Given the description of an element on the screen output the (x, y) to click on. 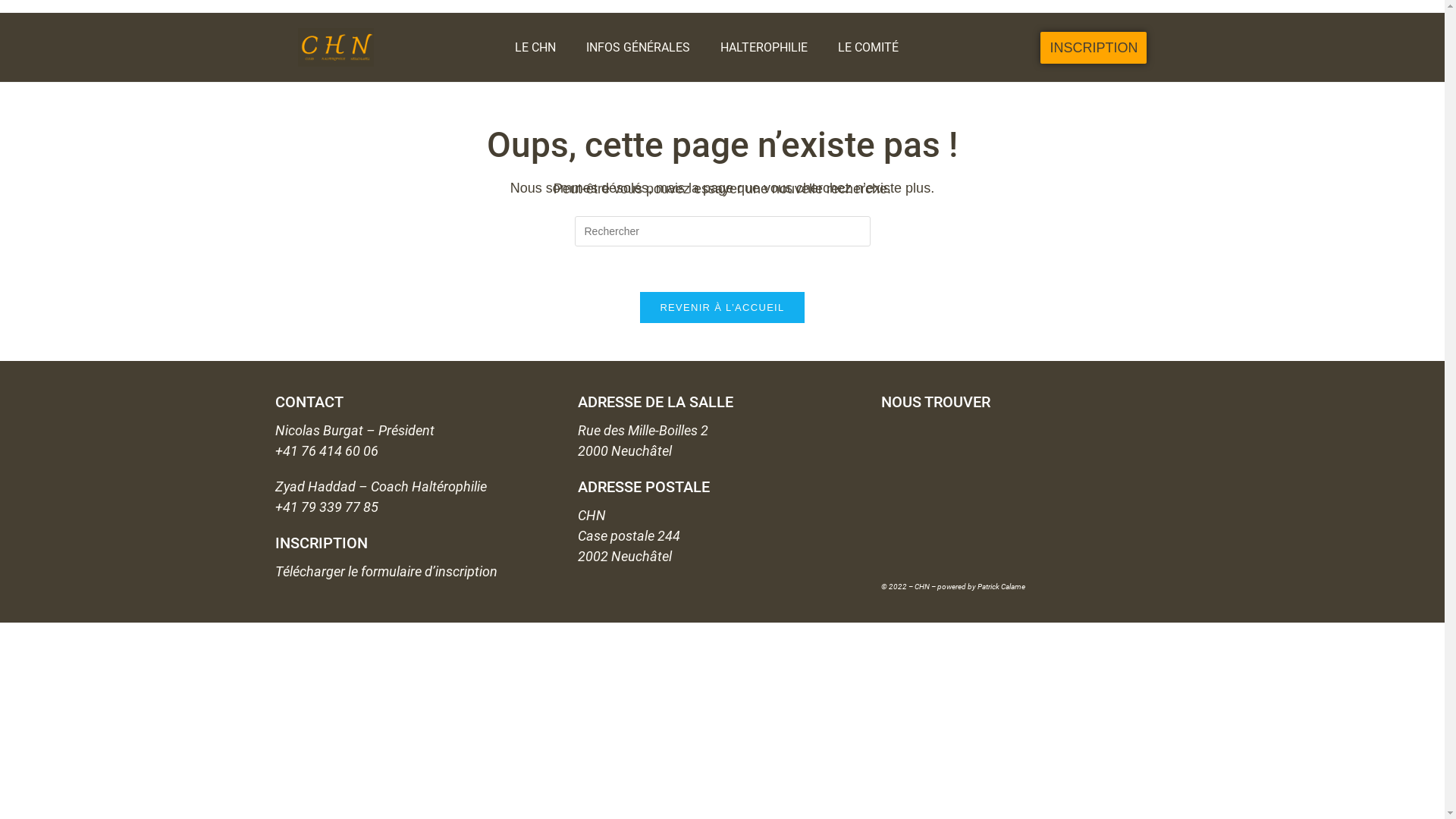
INSCRIPTION Element type: text (1093, 47)
Rue des Milles-Boilles 2 Element type: hover (1025, 500)
LE CHN Element type: text (535, 47)
HALTEROPHILIE Element type: text (763, 47)
